Given the description of an element on the screen output the (x, y) to click on. 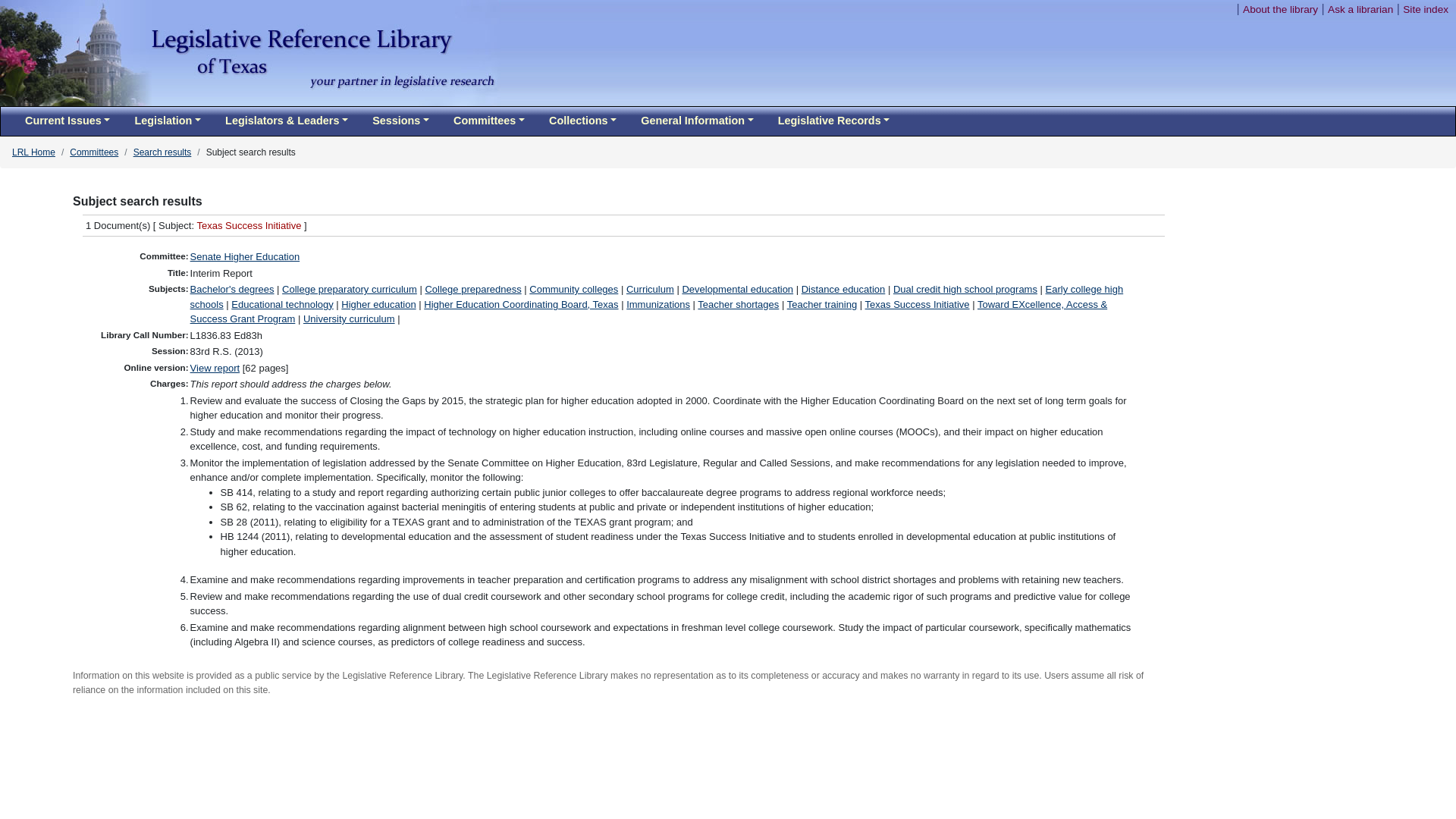
Other reports addressing: Bachelor's degrees (232, 288)
Other reports addressing: College preparatory curriculum (349, 288)
Other reports addressing: Community colleges (573, 288)
Other reports addressing: Educational technology (282, 304)
Ask a librarian (1360, 9)
Other reports addressing: Teacher shortages (737, 304)
Current Issues (67, 121)
Other reports addressing: Distance education (843, 288)
Other reports addressing: Curriculum (650, 288)
Other reports addressing: Teacher training (822, 304)
Skip to main content (1177, 8)
Other reports addressing: Texas Success Initiative (916, 304)
Other reports addressing: Dual credit high school programs (964, 288)
Site index (1425, 9)
